Given the description of an element on the screen output the (x, y) to click on. 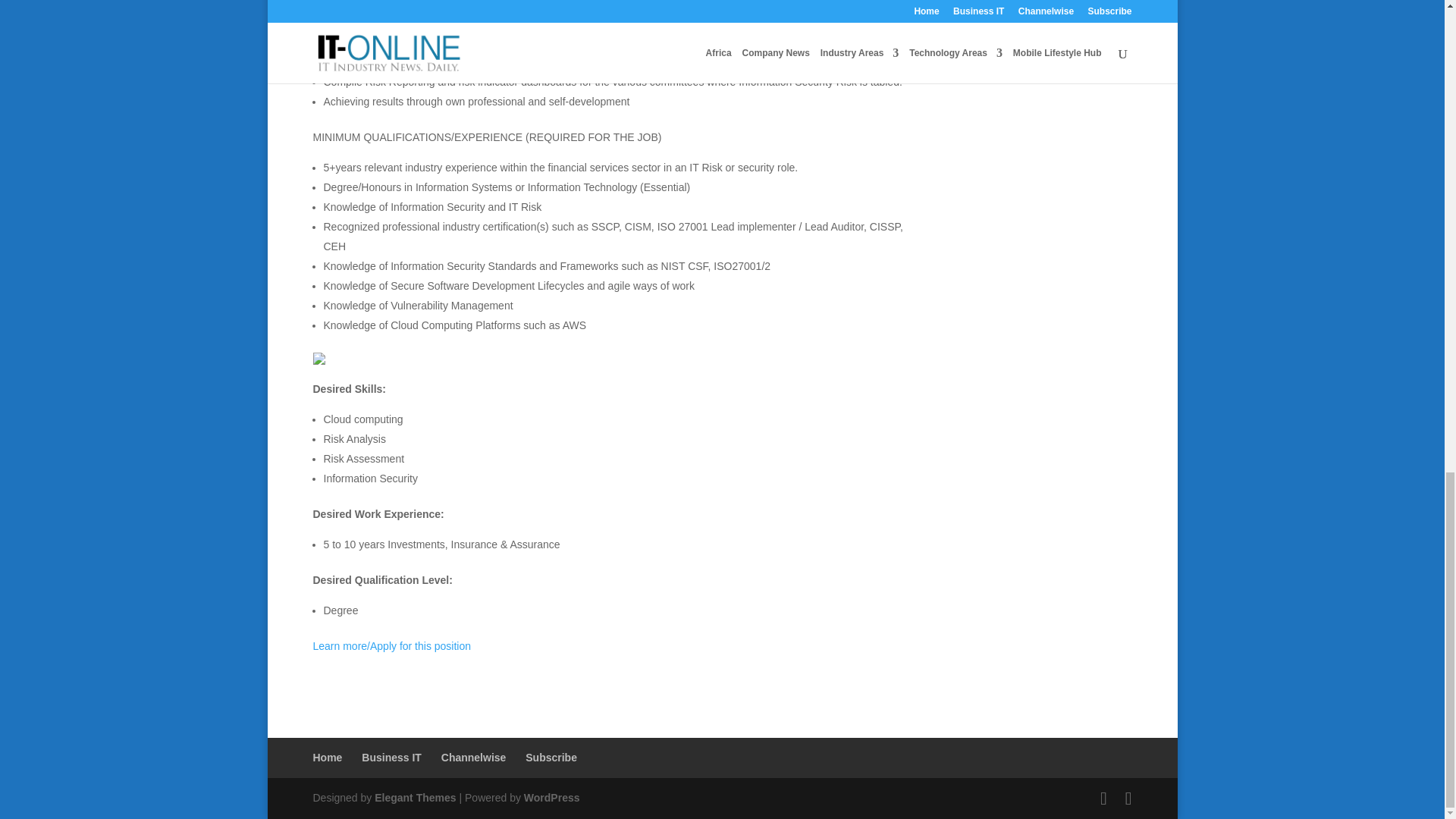
Premium WordPress Themes (414, 797)
